Given the description of an element on the screen output the (x, y) to click on. 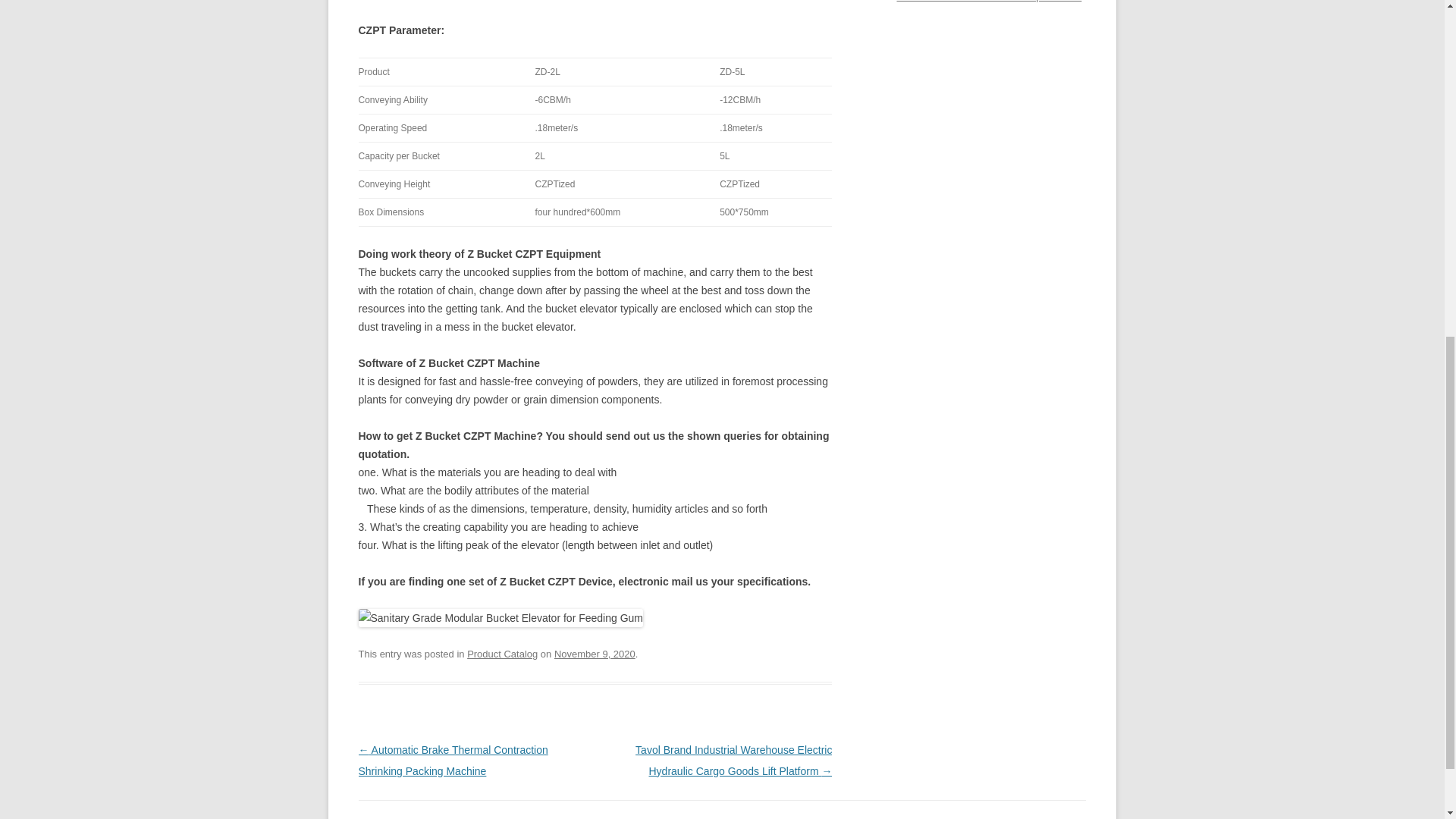
Product Catalog (502, 654)
Sanitary Grade Modular Bucket Elevator for Feeding Gum (500, 618)
November 9, 2020 (594, 654)
6:01 pm (594, 654)
